Given the description of an element on the screen output the (x, y) to click on. 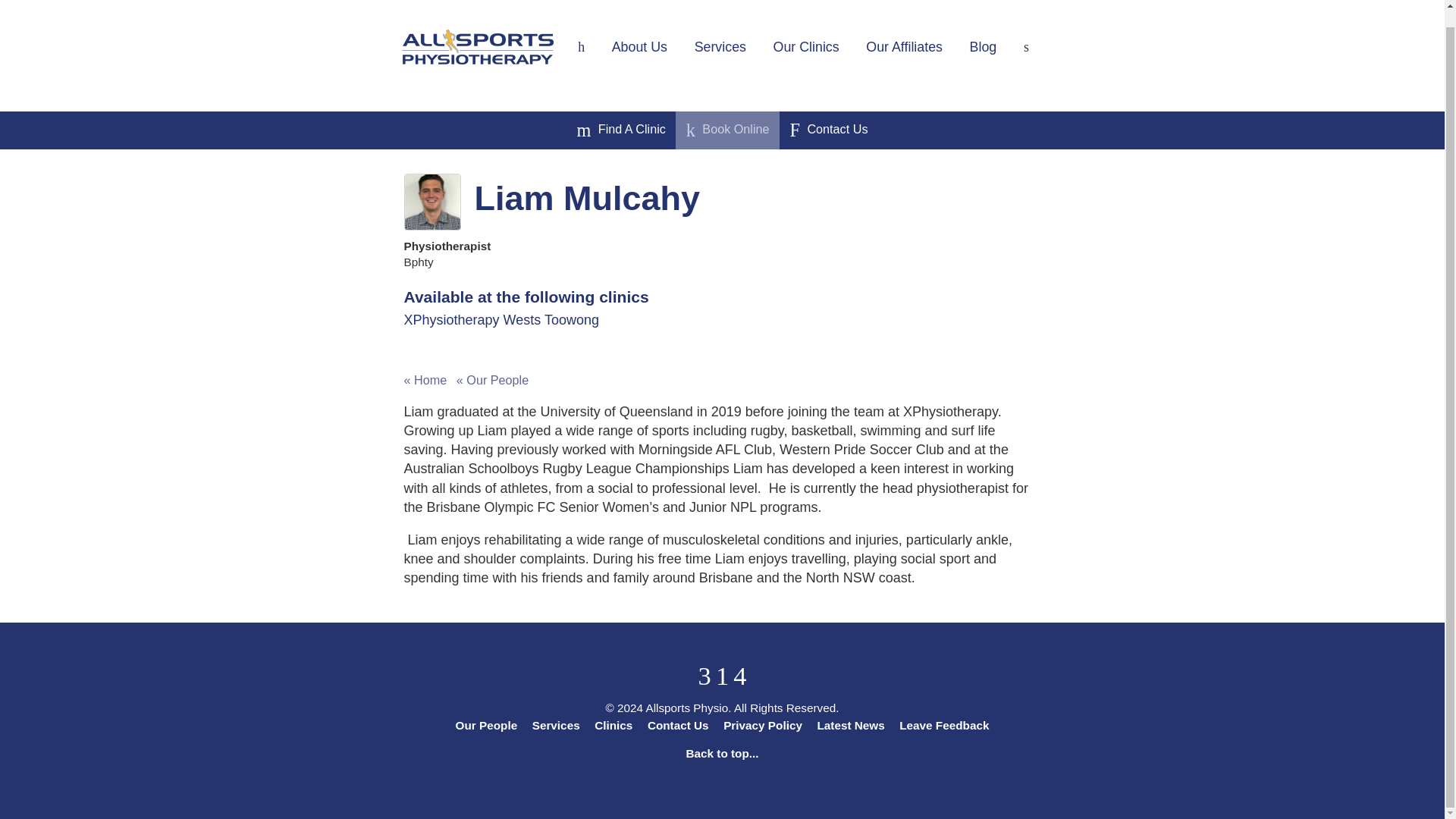
Contact Us (828, 130)
About Us (639, 46)
Find A Clinic (620, 130)
Home (581, 46)
Services (720, 46)
Liam Mulcahy - Physiotherapist (431, 201)
Book Online (727, 130)
h (581, 46)
